Given the description of an element on the screen output the (x, y) to click on. 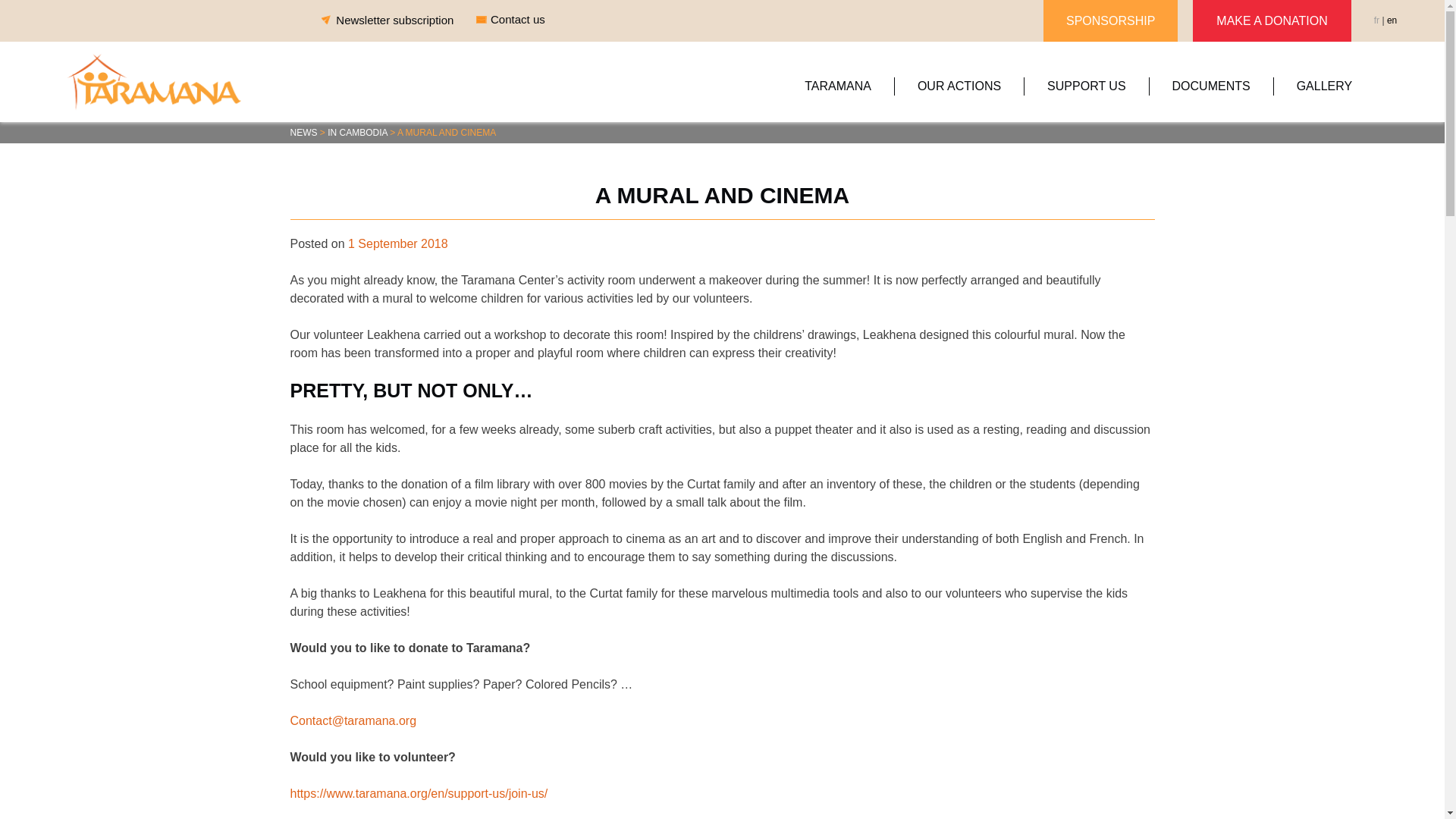
SUPPORT US (1086, 85)
Go to the In Cambodia category archives. (357, 132)
MAKE A DONATION (1271, 20)
DOCUMENTS (1212, 85)
TARAMANA (838, 85)
NEWS (303, 132)
GALLERY (1324, 85)
1 September 2018 (397, 243)
en (1391, 20)
IN CAMBODIA (357, 132)
